Given the description of an element on the screen output the (x, y) to click on. 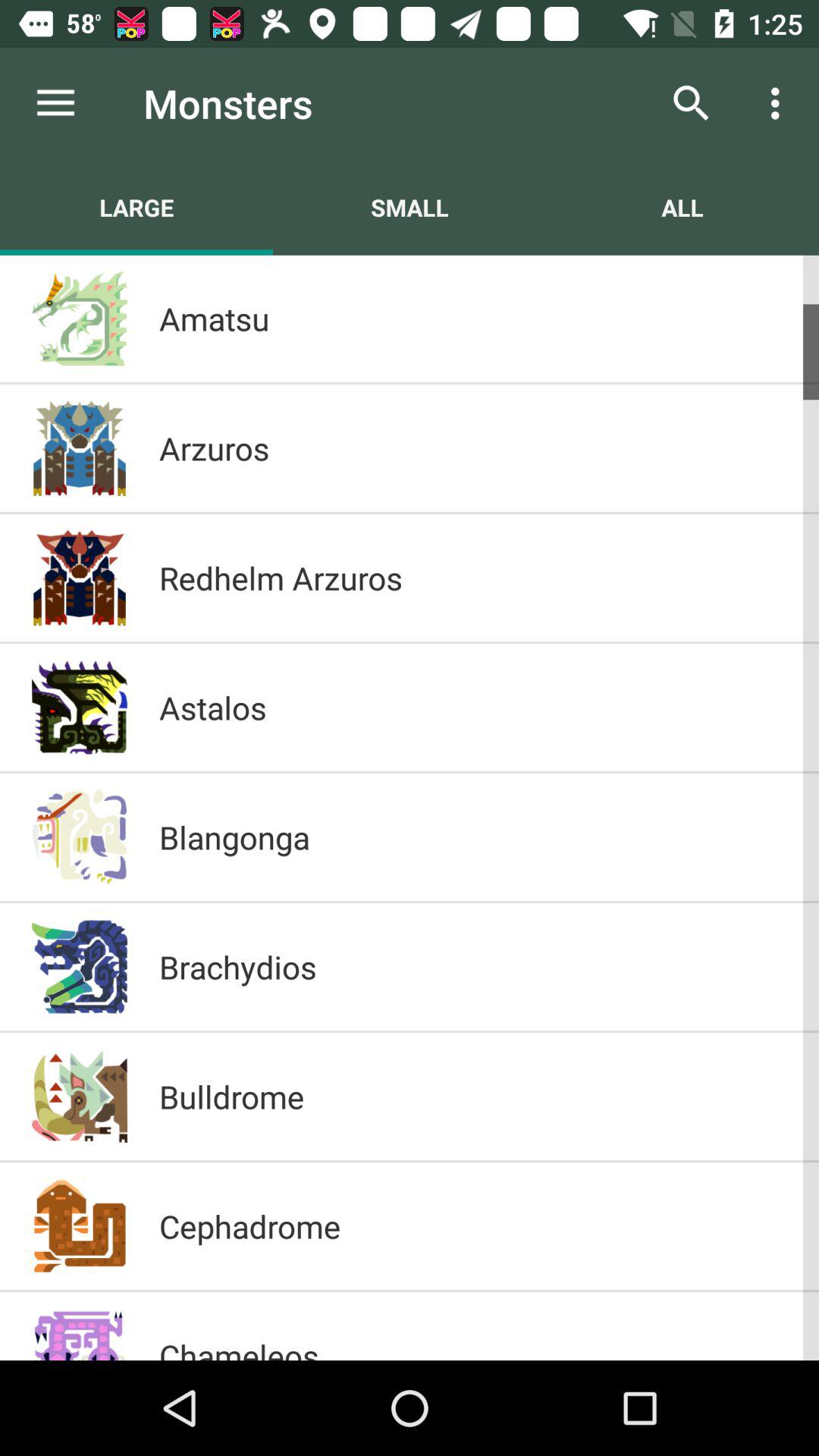
launch blangonga item (473, 836)
